Given the description of an element on the screen output the (x, y) to click on. 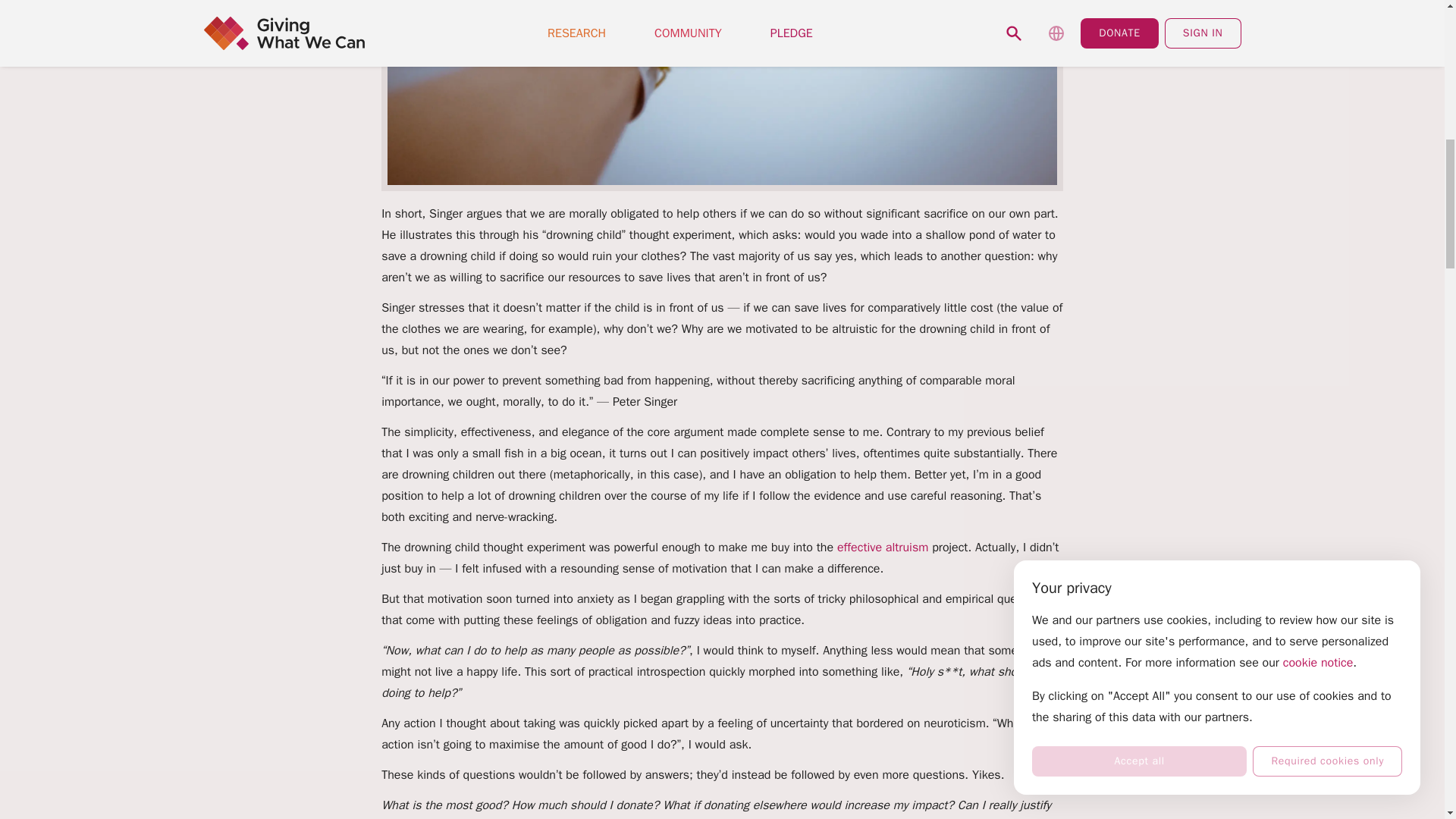
effective altruism (882, 547)
